Given the description of an element on the screen output the (x, y) to click on. 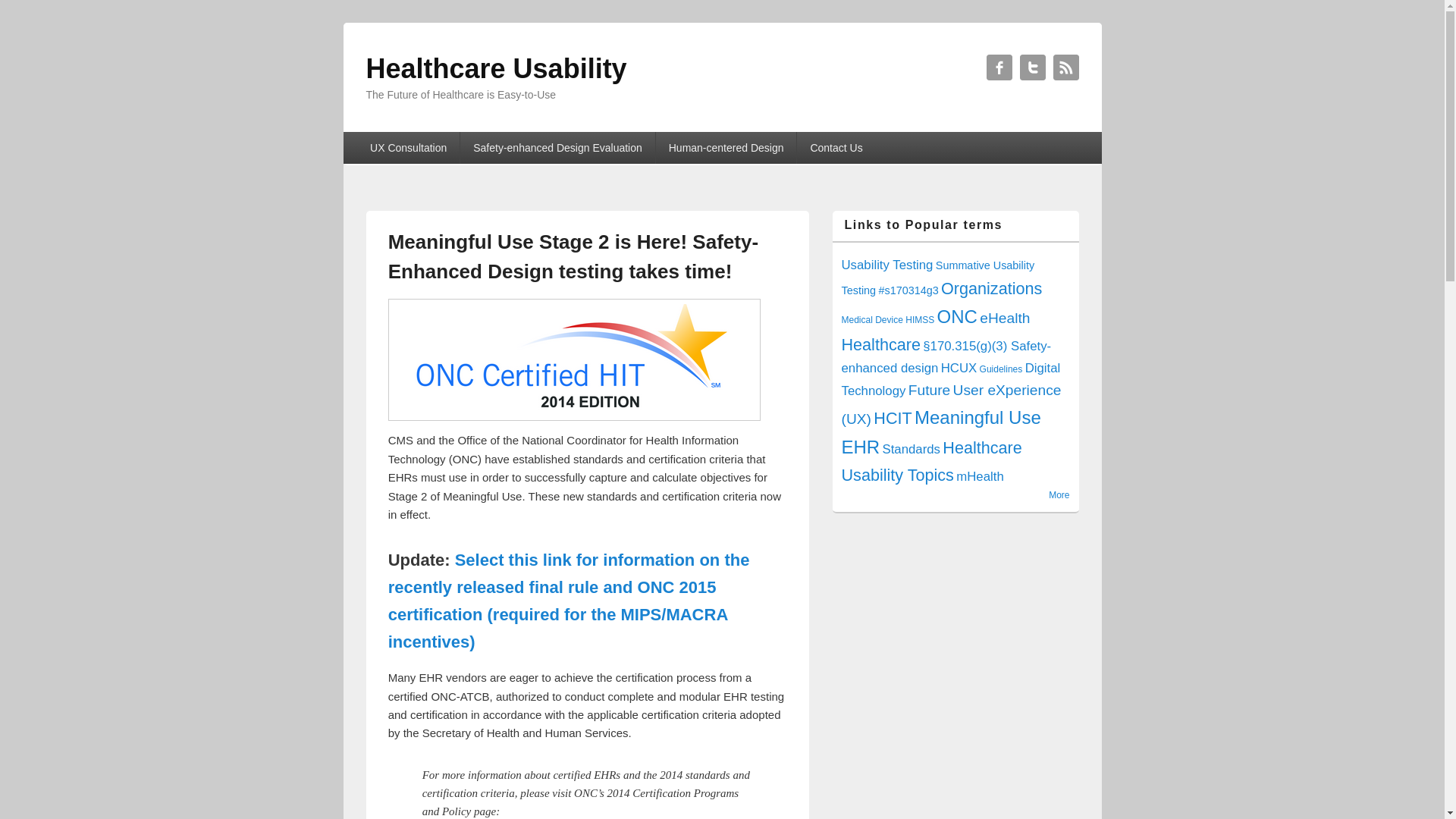
UX Consultation (408, 147)
HIMSS (919, 319)
Human-centered Design (726, 147)
eHealth (1004, 317)
ONC (956, 316)
Healthcare Usability Twitter (1032, 67)
Healthcare Usability RSS (1065, 67)
Summative Usability Testing (938, 277)
